Given the description of an element on the screen output the (x, y) to click on. 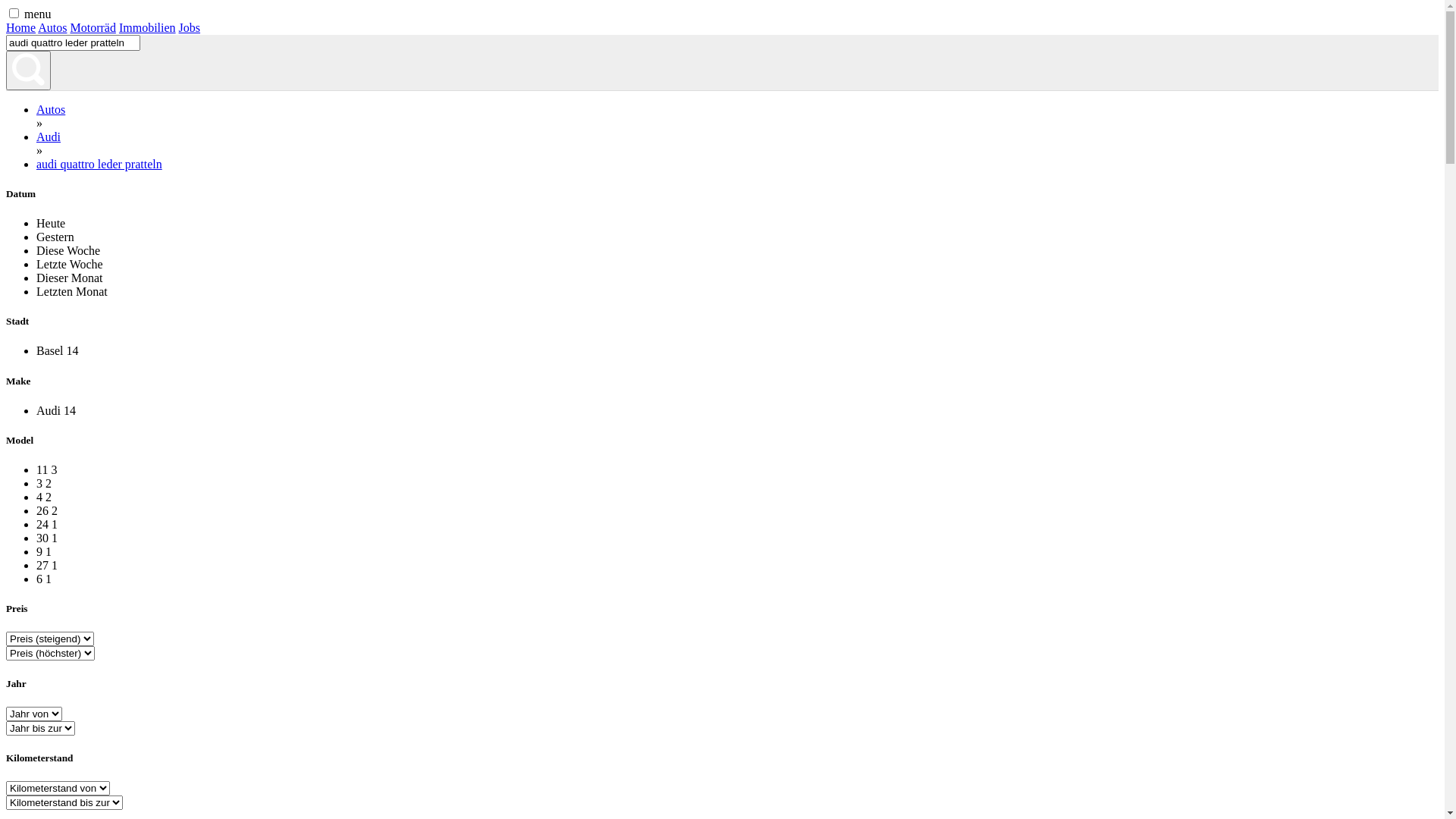
Audi Element type: text (48, 136)
Autos Element type: text (51, 27)
audi quattro leder pratteln Element type: text (99, 163)
Immobilien Element type: text (147, 27)
Autos Element type: text (50, 109)
Jobs Element type: text (189, 27)
Home Element type: text (20, 27)
